Given the description of an element on the screen output the (x, y) to click on. 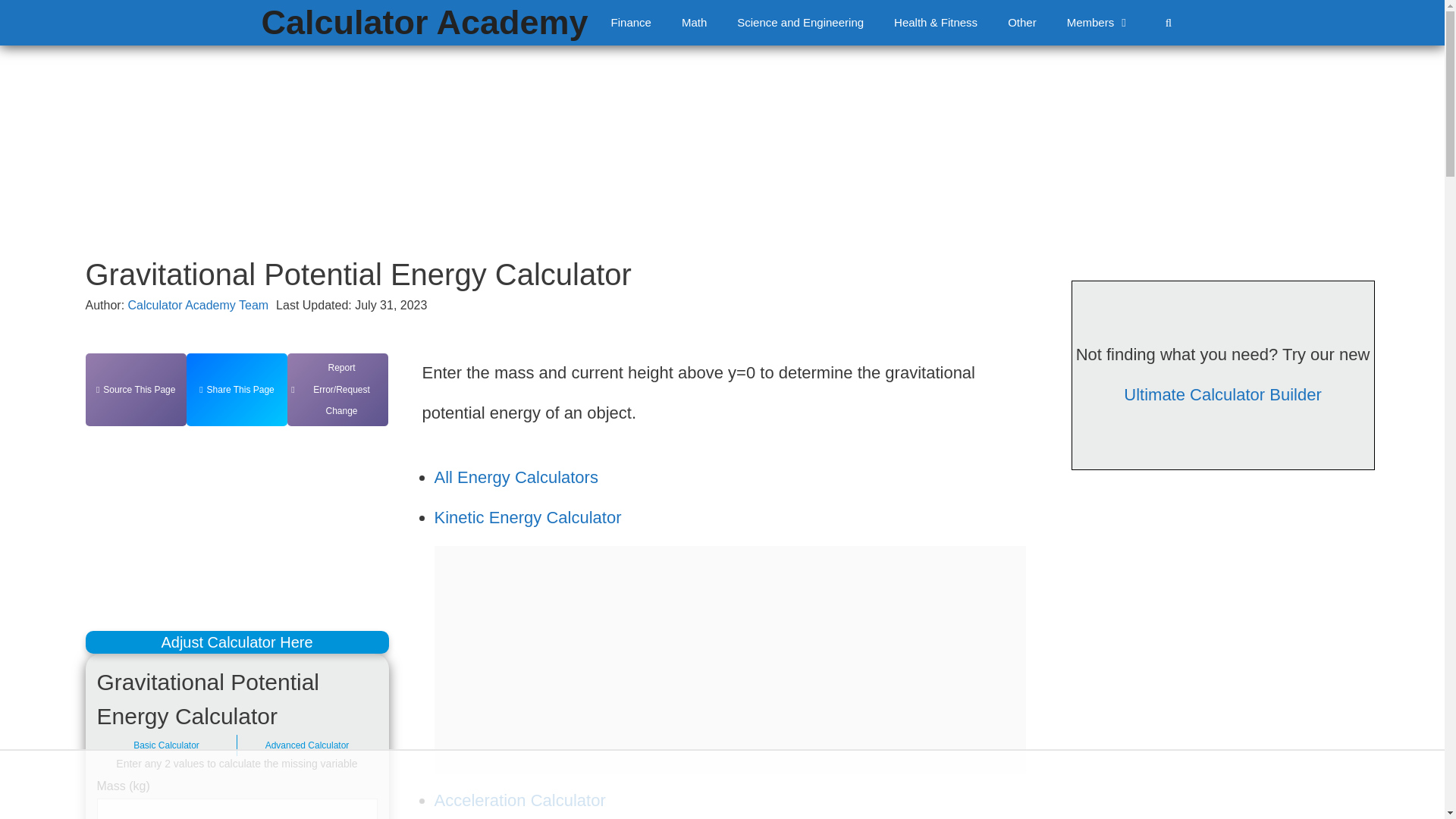
Calculator Academy (425, 22)
Other (1021, 22)
Acceleration Calculator (519, 800)
Math (694, 22)
All Energy Calculators (514, 476)
Calculator Academy Team (198, 305)
Finance (630, 22)
Science and Engineering (800, 22)
Members (1099, 22)
Kinetic Energy Calculator (527, 517)
